Given the description of an element on the screen output the (x, y) to click on. 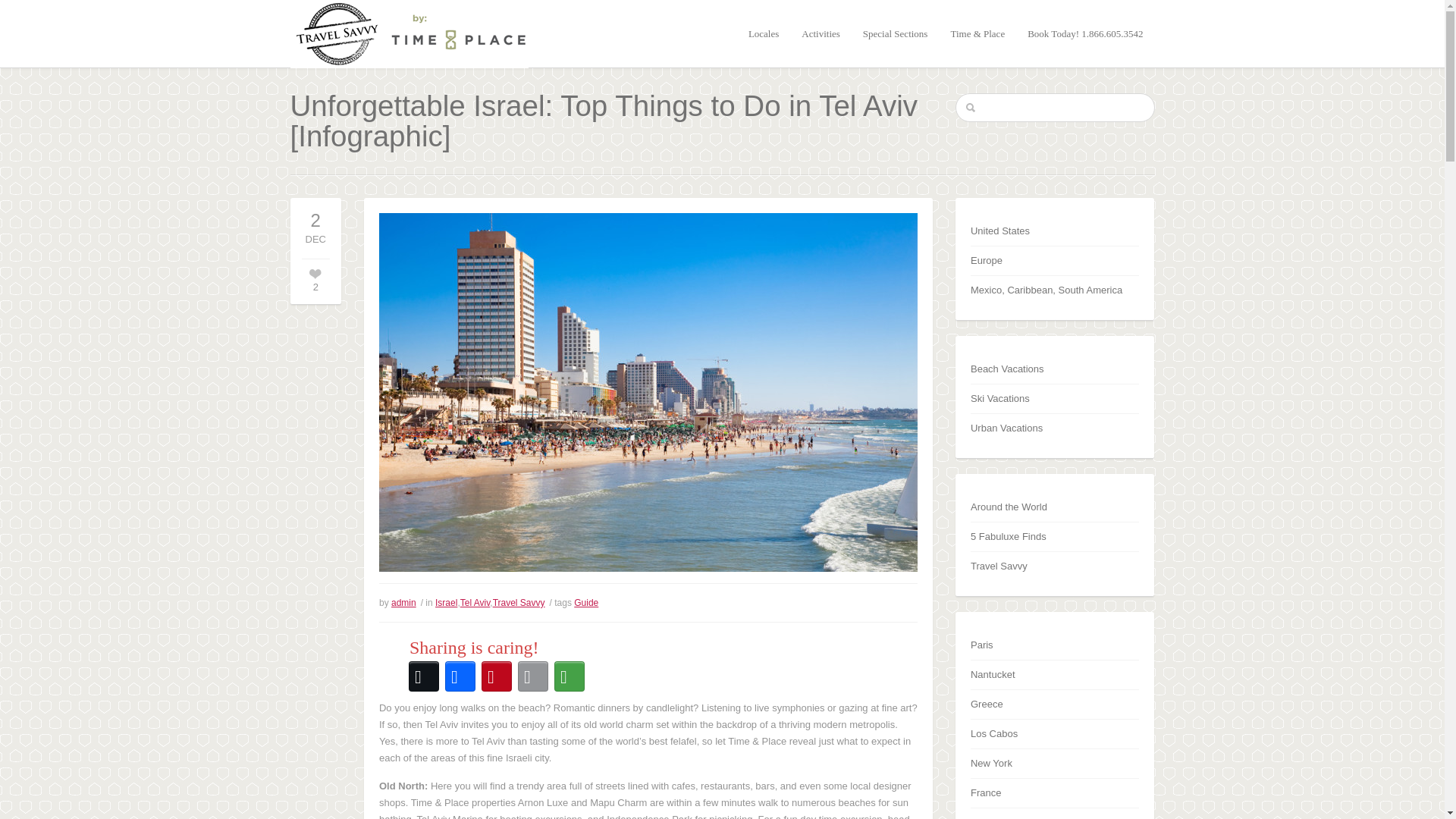
Guide (585, 602)
More Options (569, 676)
Pinterest (497, 676)
Travel Savvy (518, 602)
Israel (446, 602)
Posts by admin (403, 602)
admin (403, 602)
Email This (533, 676)
Special Sections (896, 33)
Book Today! 1.866.605.3542 (1085, 33)
